Given the description of an element on the screen output the (x, y) to click on. 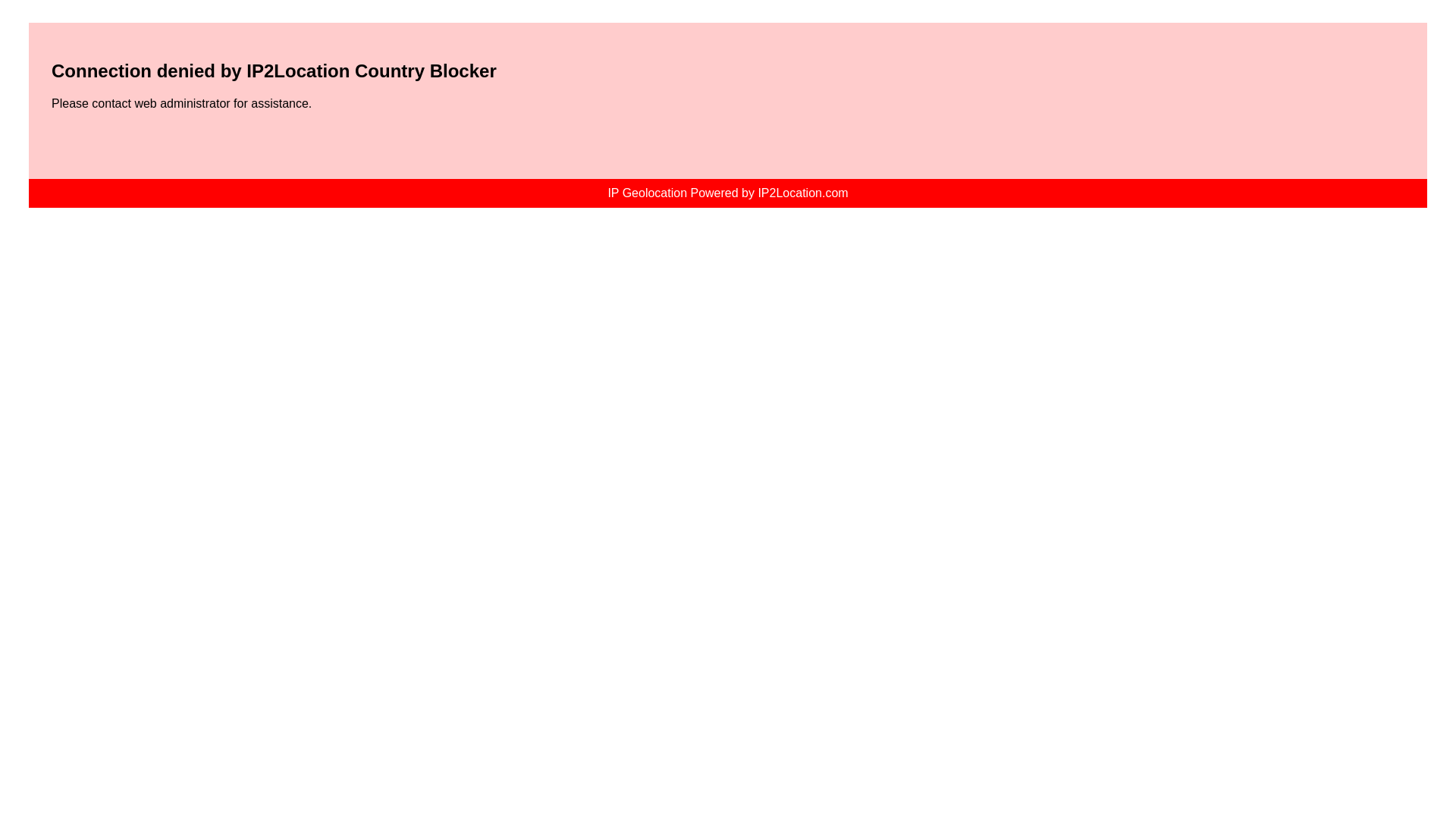
IP Geolocation Powered by IP2Location.com Element type: text (727, 192)
